Given the description of an element on the screen output the (x, y) to click on. 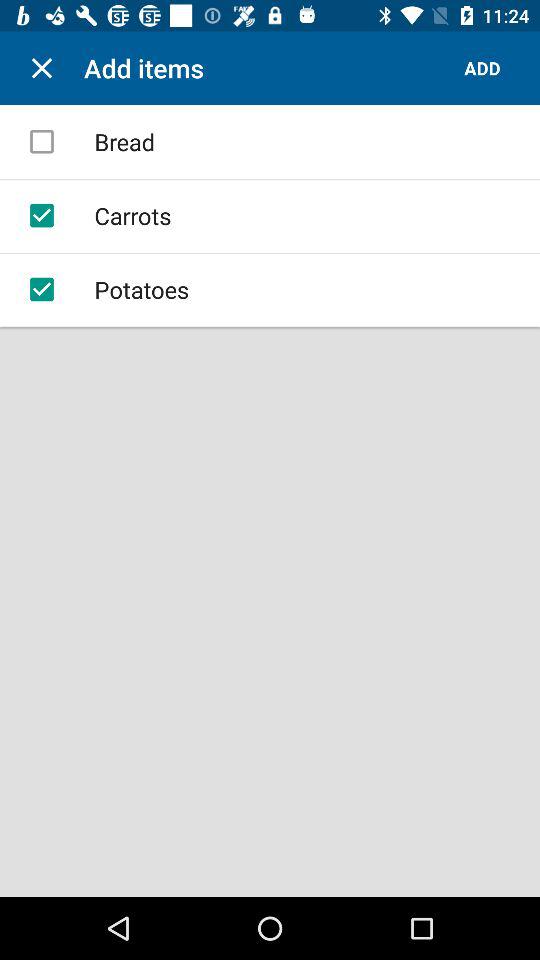
click the item above the bread (42, 68)
